Given the description of an element on the screen output the (x, y) to click on. 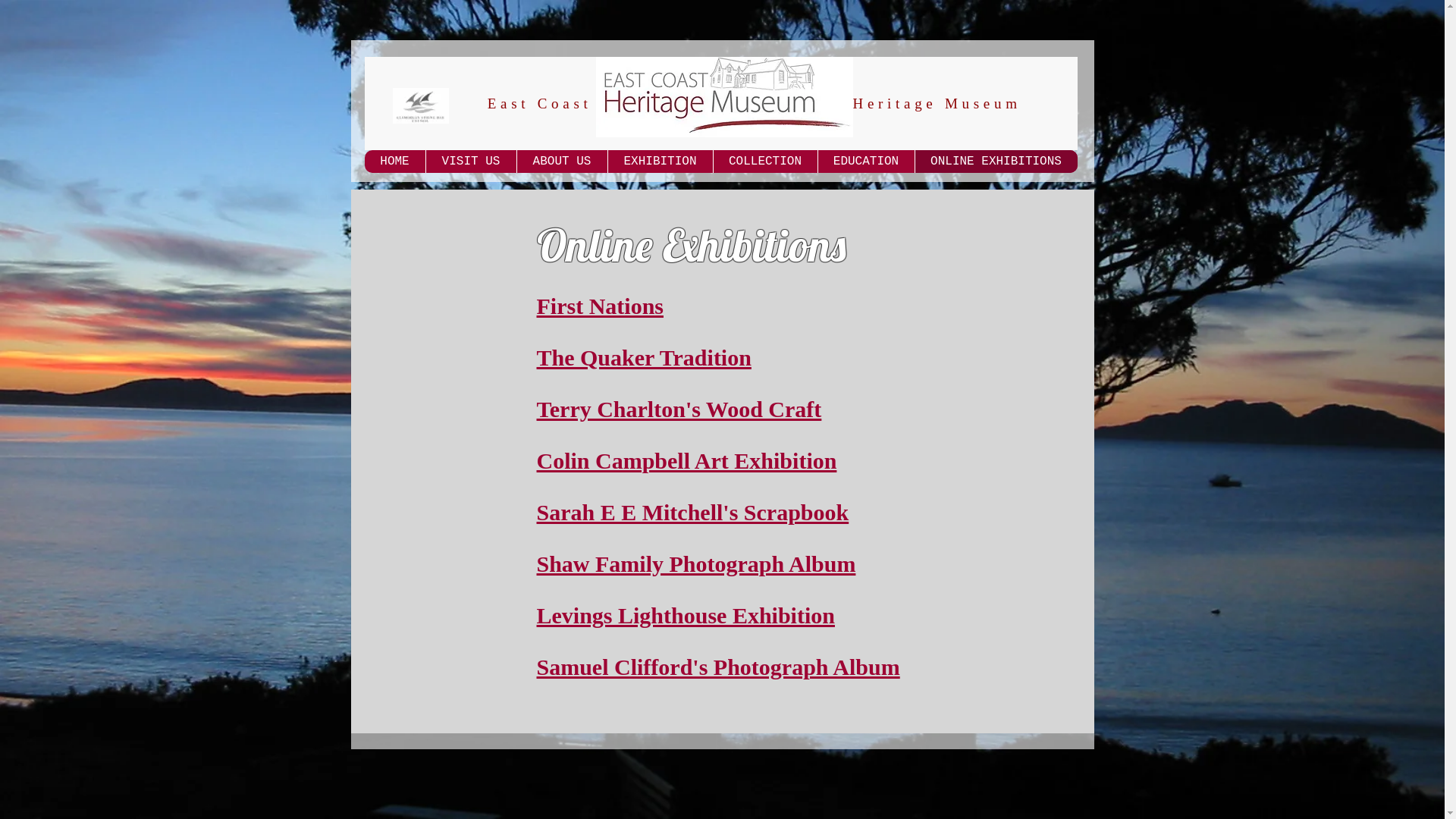
Shaw Family Photograph Album Element type: text (696, 563)
EDUCATION Element type: text (865, 161)
ECHM.JPG Element type: hover (724, 96)
ONLINE EXHIBITIONS Element type: text (995, 161)
COLLECTION Element type: text (764, 161)
Terry Charlton's Wood Craft Element type: text (679, 434)
HOME Element type: text (394, 161)
Levings Lighthouse Exhibition Element type: text (685, 614)
First Nations Element type: text (600, 305)
ABOUT US Element type: text (560, 161)
Colin Campbell Art Exhibition Element type: text (686, 486)
The Quaker Tradition Element type: text (643, 370)
Samuel Clifford's Photograph Album Element type: text (718, 666)
VISIT US Element type: text (469, 161)
EXHIBITION Element type: text (659, 161)
Sarah E E Mitchell's Scrapbook Element type: text (692, 524)
